Given the description of an element on the screen output the (x, y) to click on. 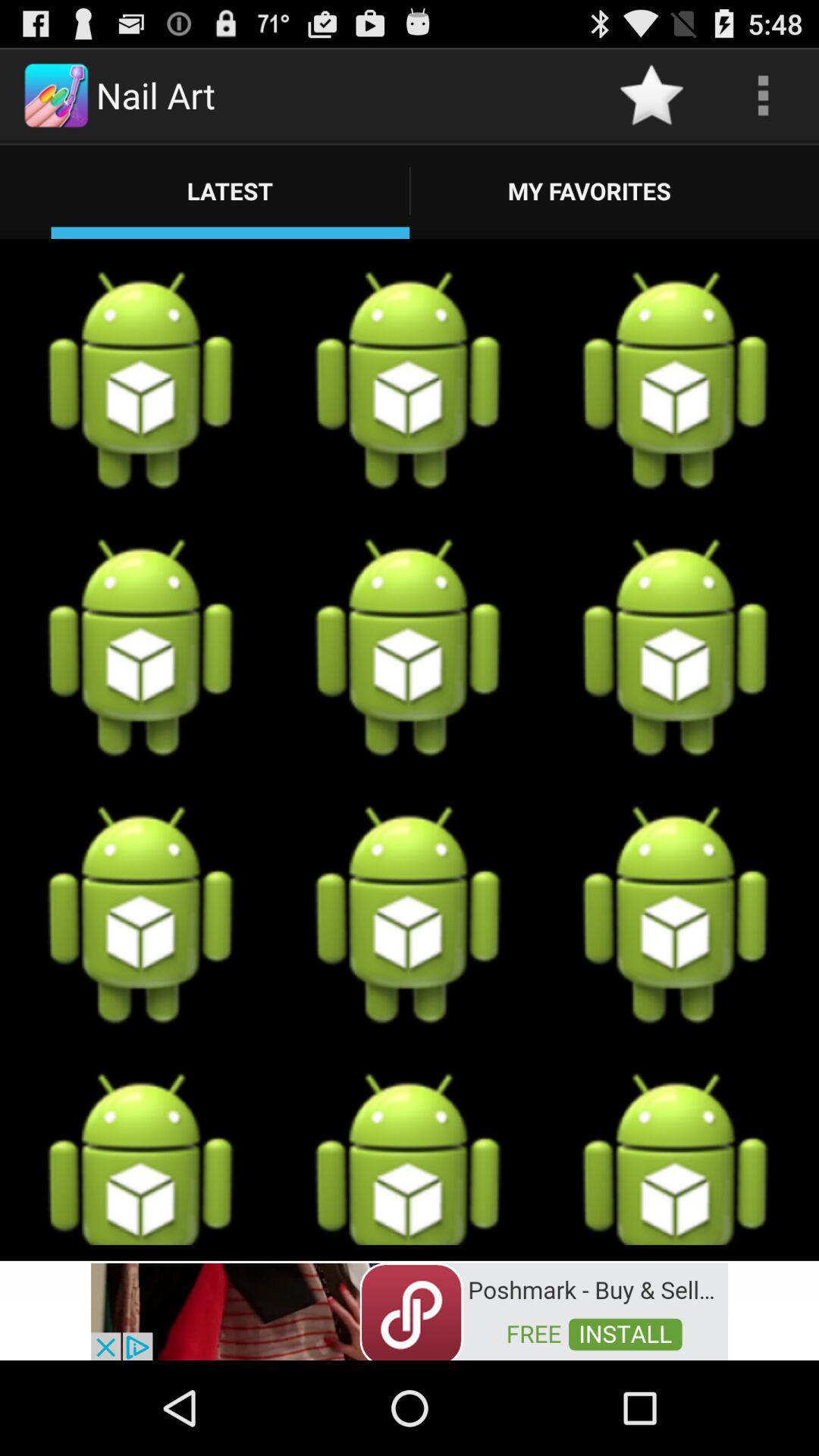
go to latest (230, 190)
